Given the description of an element on the screen output the (x, y) to click on. 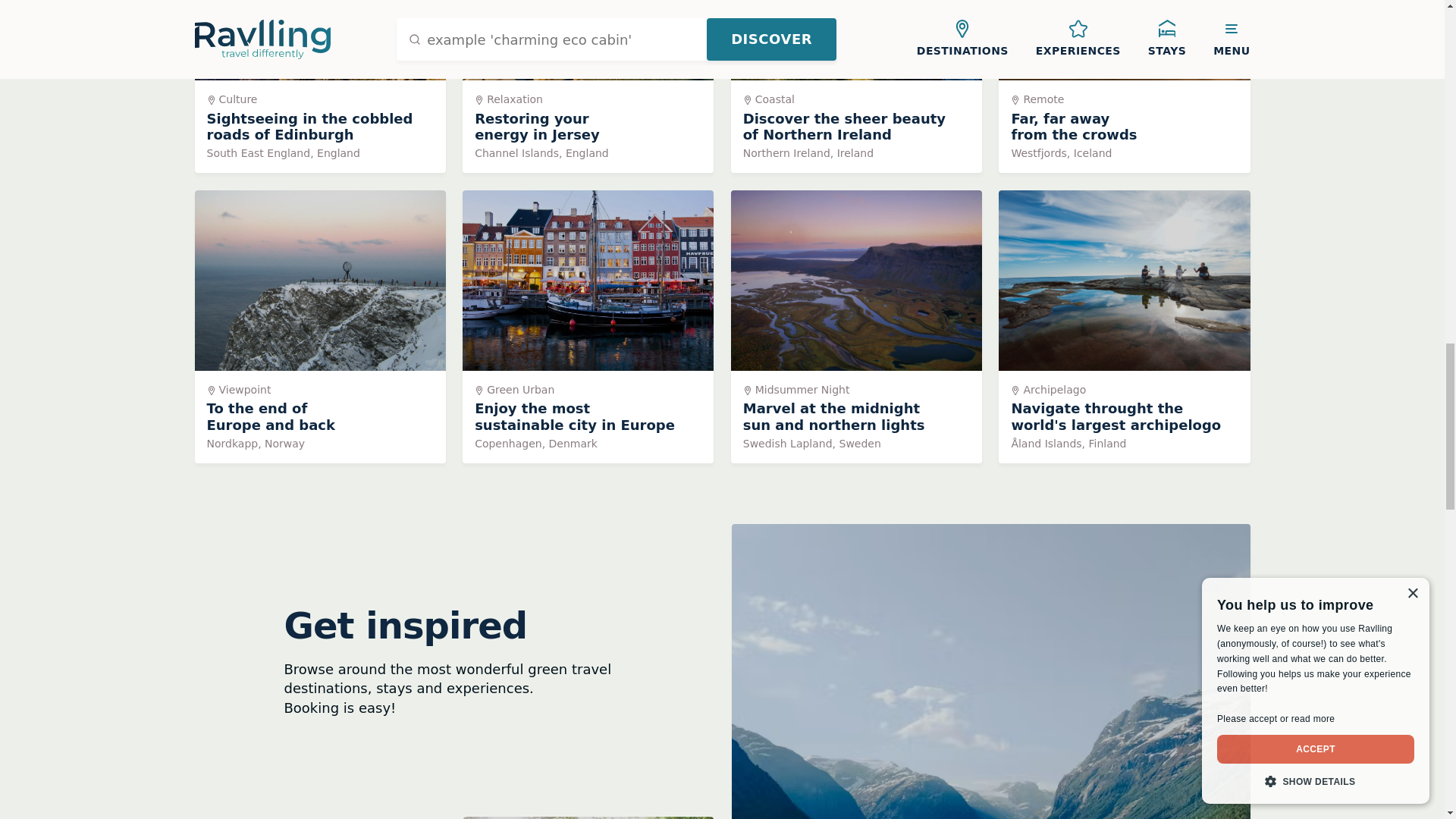
Marvel at the midnight sun and northern lights (855, 326)
Restoring your energy in Jersey (588, 86)
Discover the sheer beauty of Northern Ireland (855, 86)
Enjoy the most sustainable city in Europe (319, 326)
Sightseeing in the cobbled roads of Edinburgh (1123, 86)
Far, far away from the crowds (588, 326)
To the end of Europe and back (319, 86)
Navigate throught the world's largest archipelogo (1123, 86)
